Given the description of an element on the screen output the (x, y) to click on. 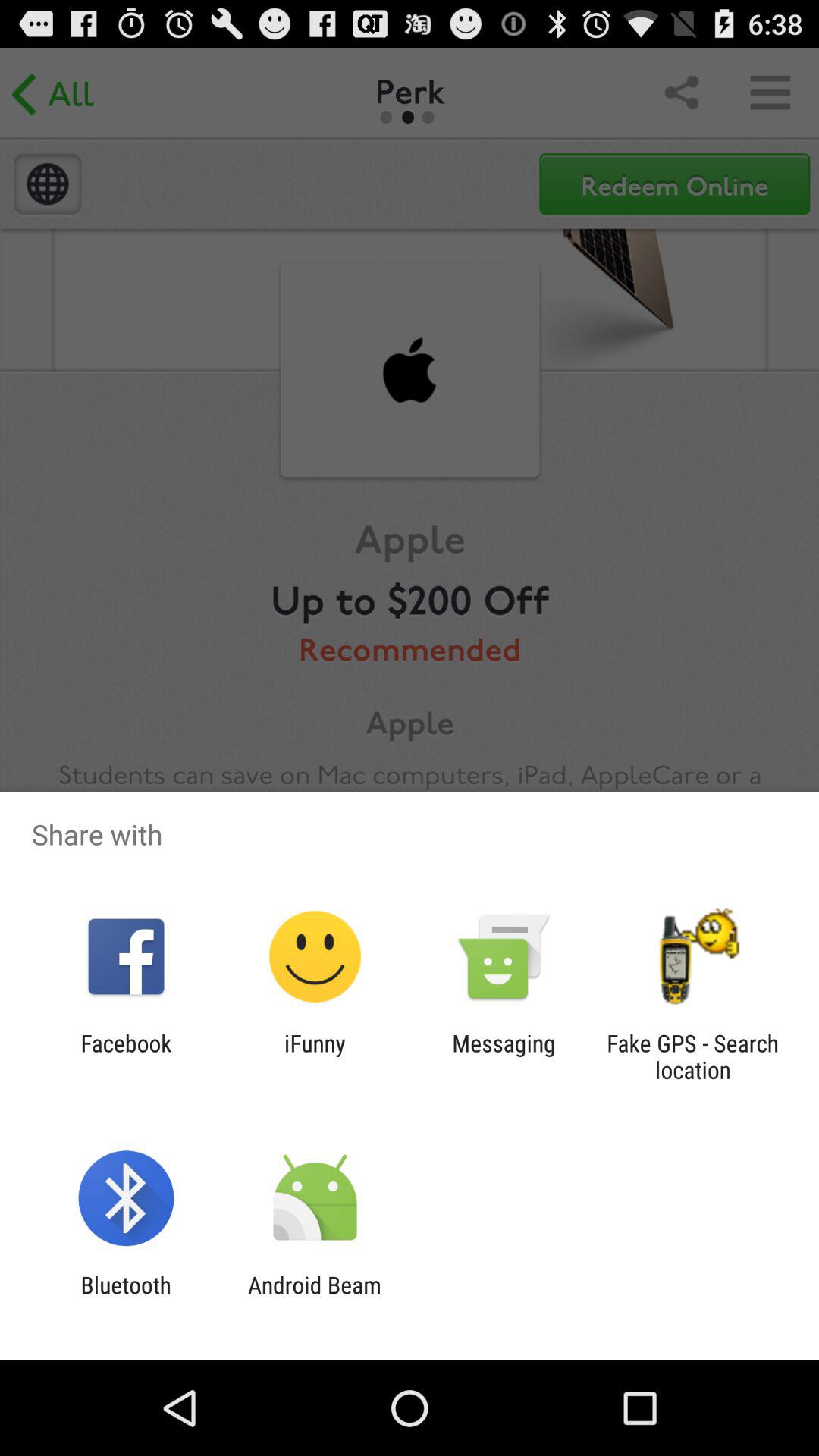
click app next to the bluetooth app (314, 1298)
